Given the description of an element on the screen output the (x, y) to click on. 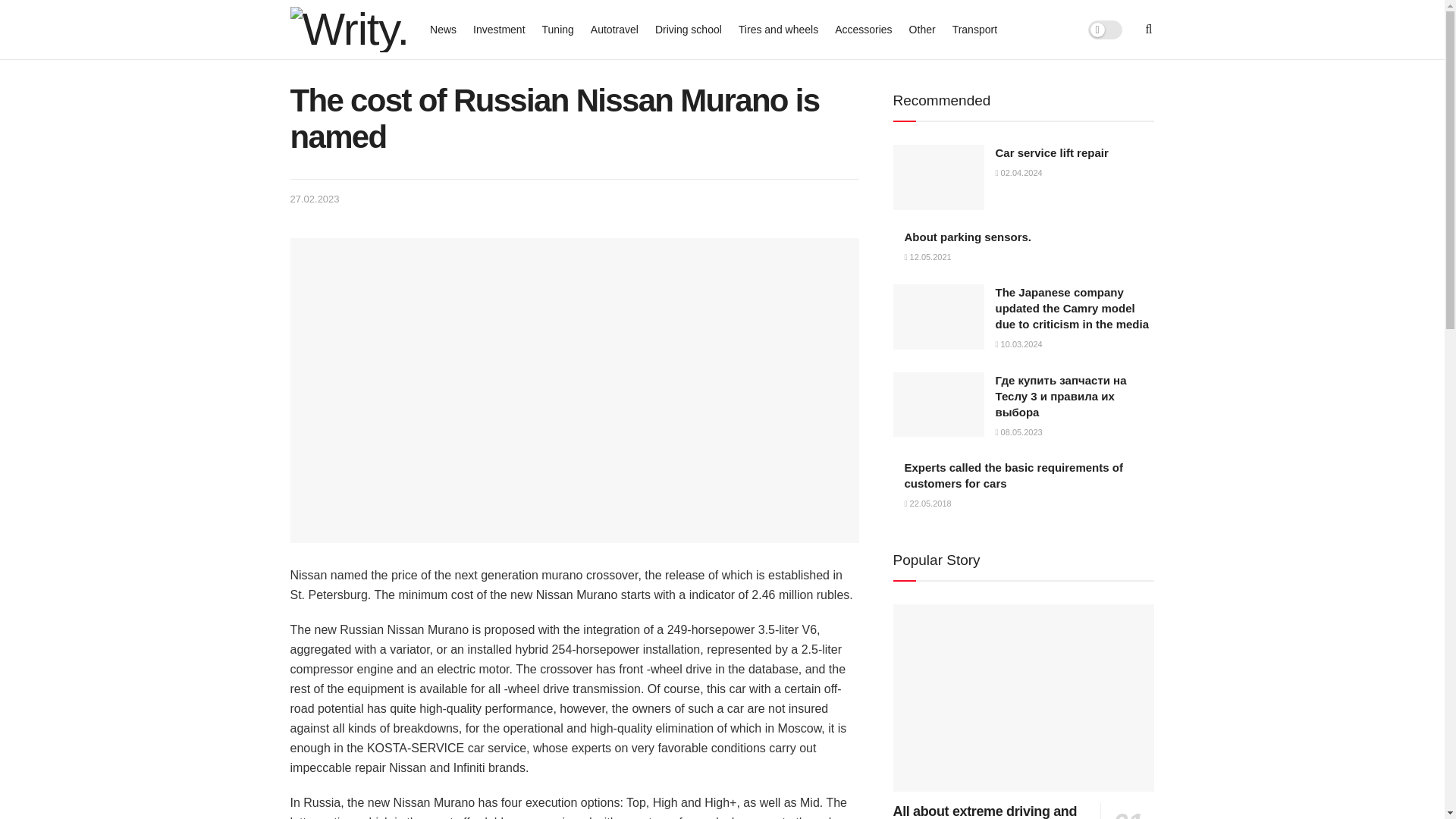
02.04.2024 (1018, 172)
Investment (498, 29)
Car service lift repair (1051, 152)
Tuning (557, 29)
Transport (974, 29)
About parking sensors. (967, 236)
12.05.2021 (927, 256)
27.02.2023 (314, 198)
Other (922, 29)
Accessories (862, 29)
